Given the description of an element on the screen output the (x, y) to click on. 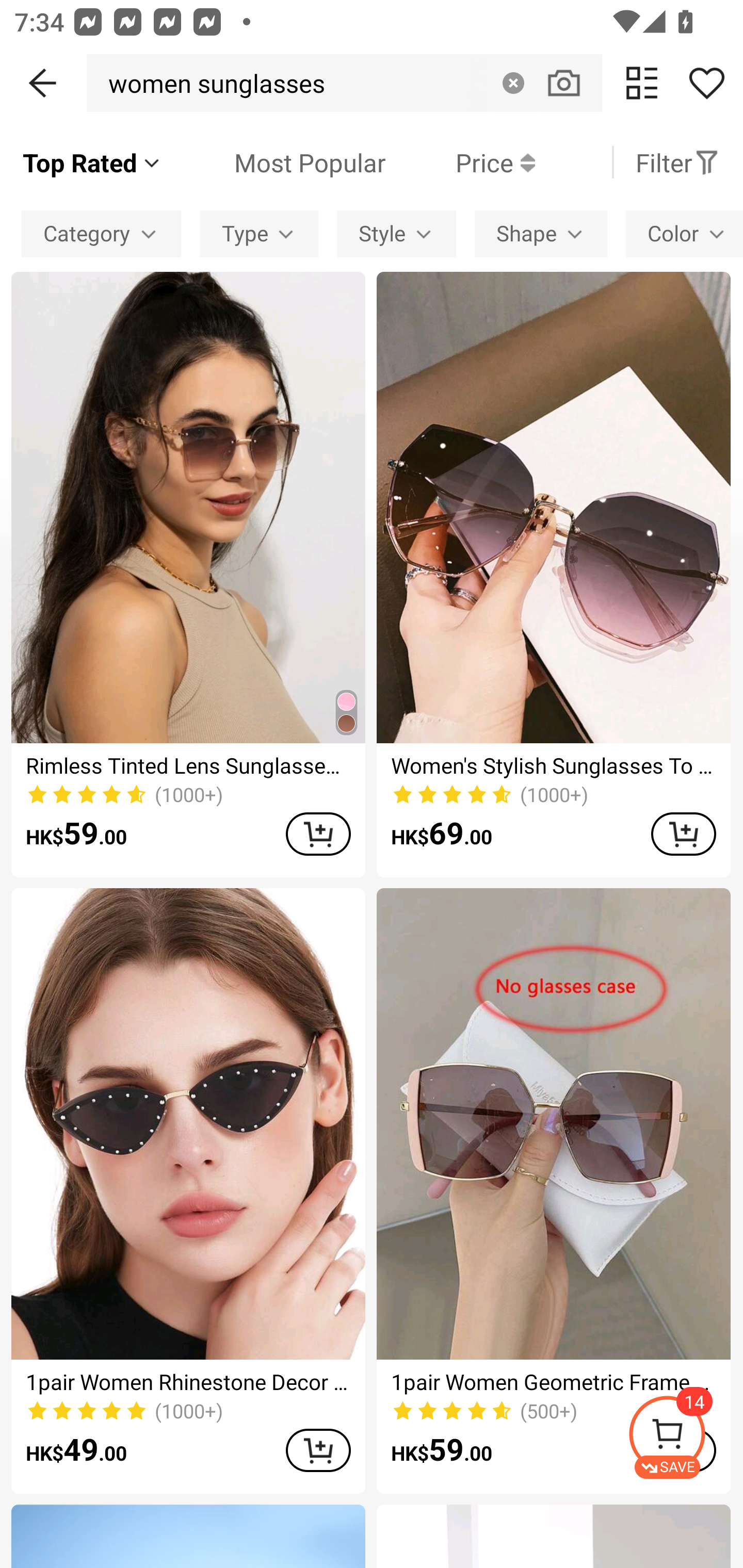
women sunglasses Clear (343, 82)
women sunglasses (210, 82)
Clear (513, 82)
change view (641, 82)
Share (706, 82)
Top Rated (92, 162)
Most Popular (274, 162)
Price (459, 162)
Filter (677, 162)
Category (101, 233)
Type (258, 233)
Style (396, 233)
Shape (540, 233)
Color (684, 233)
ADD TO CART (318, 834)
ADD TO CART (683, 834)
SAVE (685, 1436)
ADD TO CART (318, 1450)
